Given the description of an element on the screen output the (x, y) to click on. 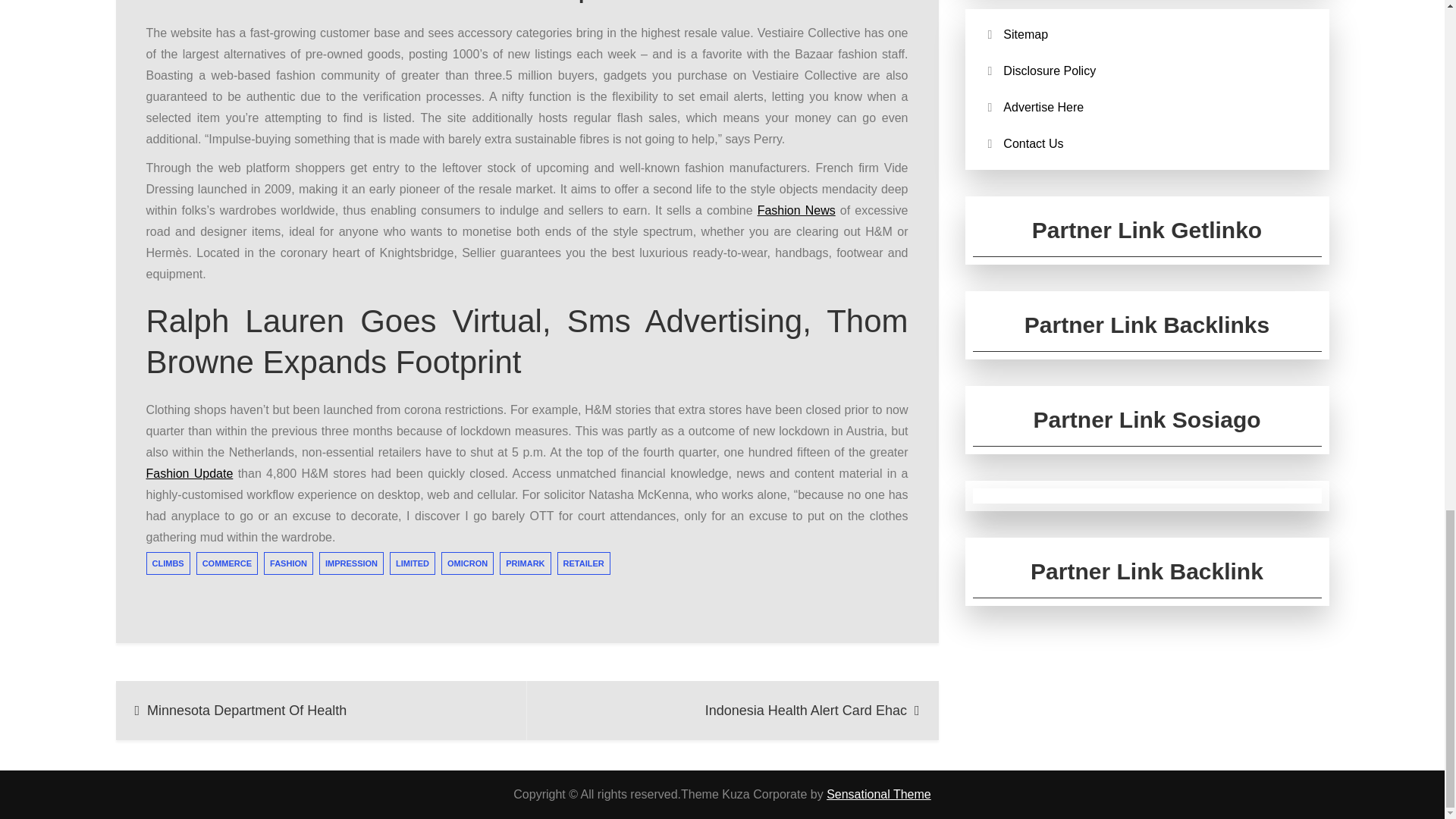
CLIMBS (167, 563)
COMMERCE (226, 563)
PRIMARK (524, 563)
OMICRON (467, 563)
RETAILER (583, 563)
LIMITED (412, 563)
Fashion News (796, 210)
Minnesota Department Of Health (321, 710)
Indonesia Health Alert Card Ehac (733, 710)
Fashion Update (188, 472)
IMPRESSION (351, 563)
FASHION (288, 563)
